Given the description of an element on the screen output the (x, y) to click on. 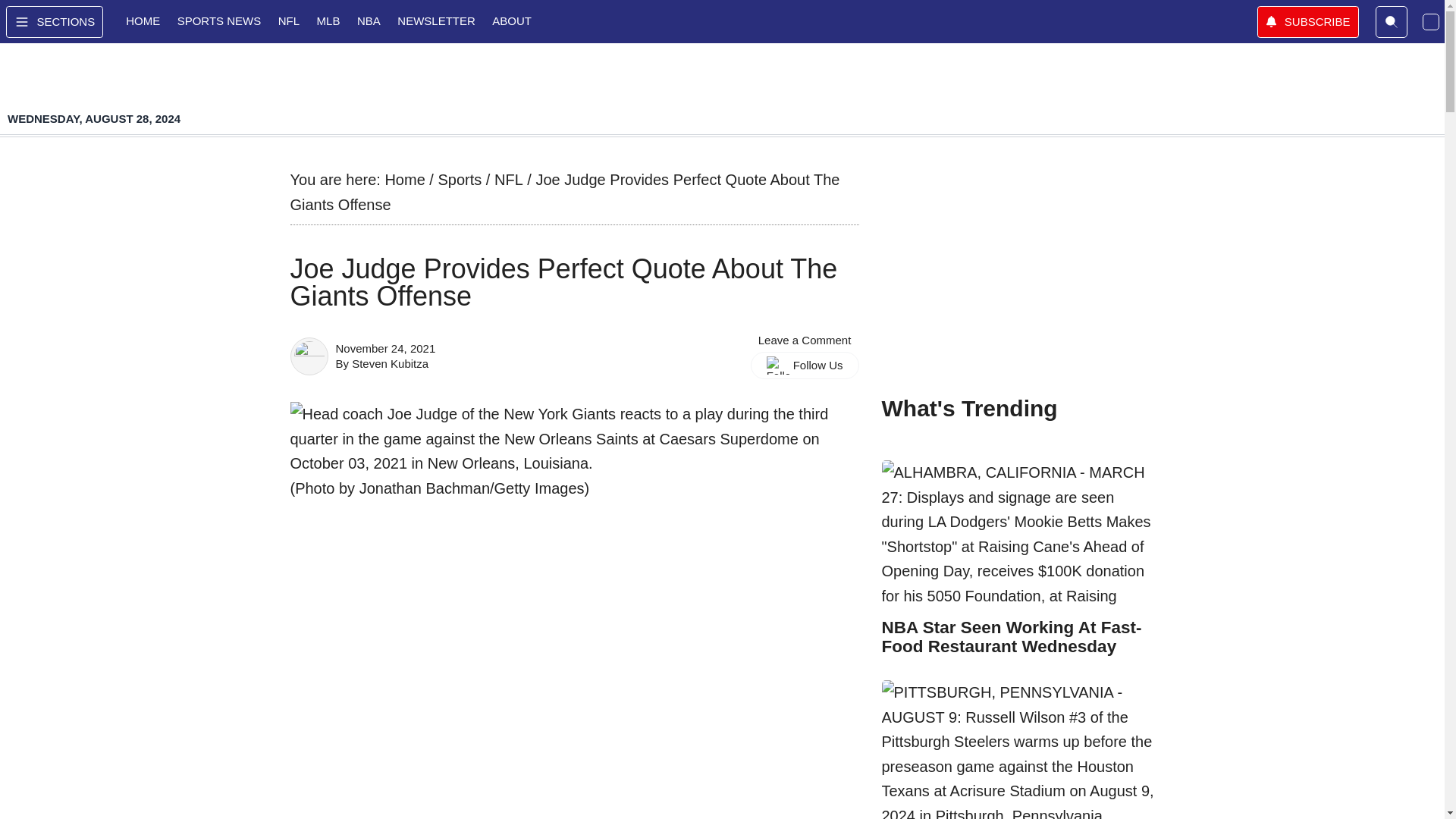
Open Menu (54, 21)
Search (1391, 21)
